Given the description of an element on the screen output the (x, y) to click on. 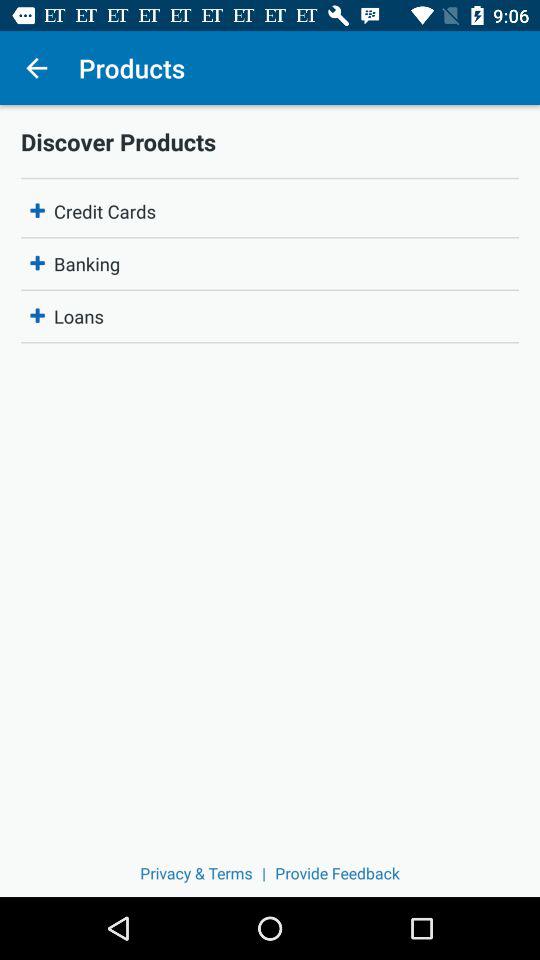
flip to privacy & terms (196, 872)
